Given the description of an element on the screen output the (x, y) to click on. 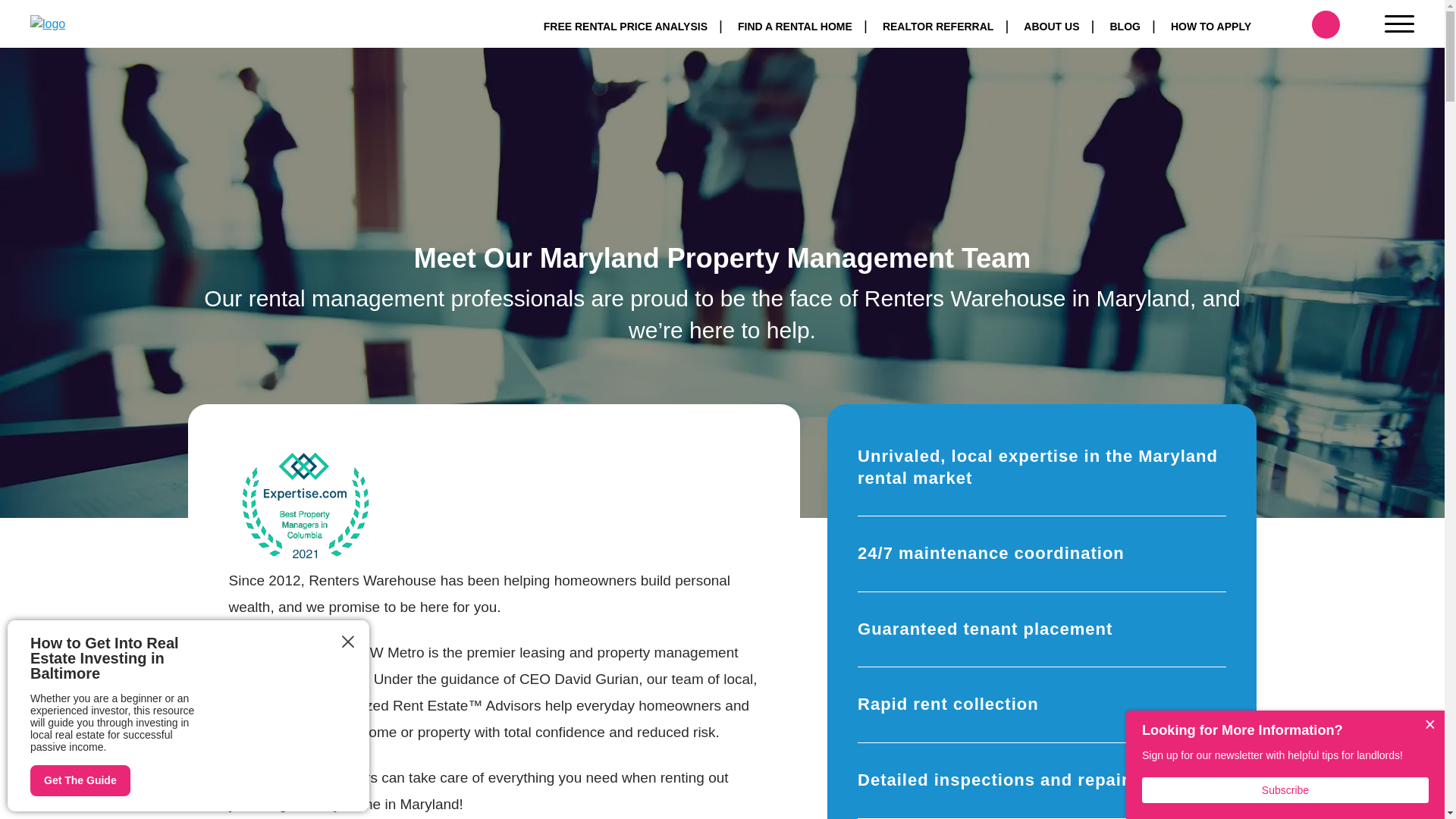
FIND A RENTAL HOME (794, 26)
FREE RENTAL PRICE ANALYSIS (625, 26)
ABOUT US (1050, 26)
BLOG (1124, 26)
Popup CTA (188, 715)
REALTOR REFERRAL (937, 26)
HOW TO APPLY (1210, 26)
logo (47, 24)
